Given the description of an element on the screen output the (x, y) to click on. 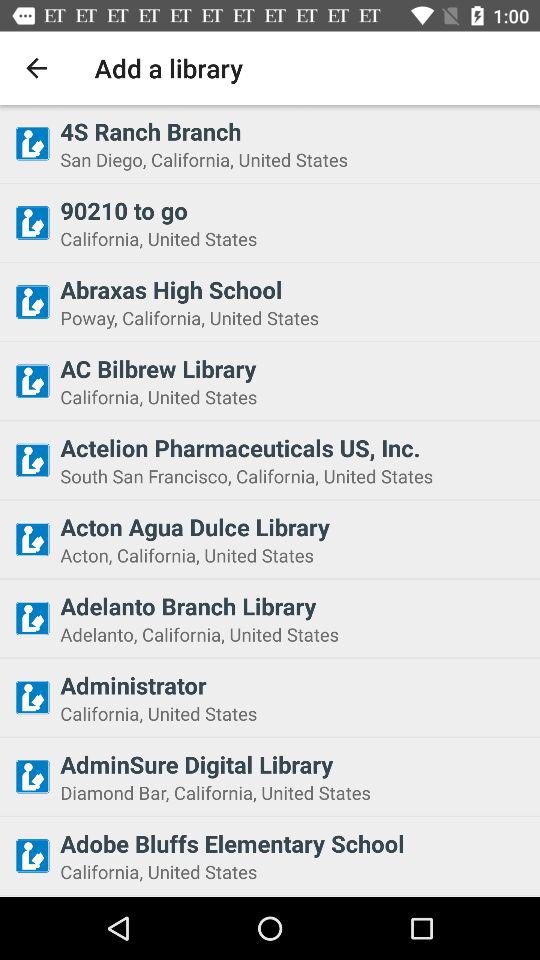
click icon below the diamond bar california icon (294, 843)
